Given the description of an element on the screen output the (x, y) to click on. 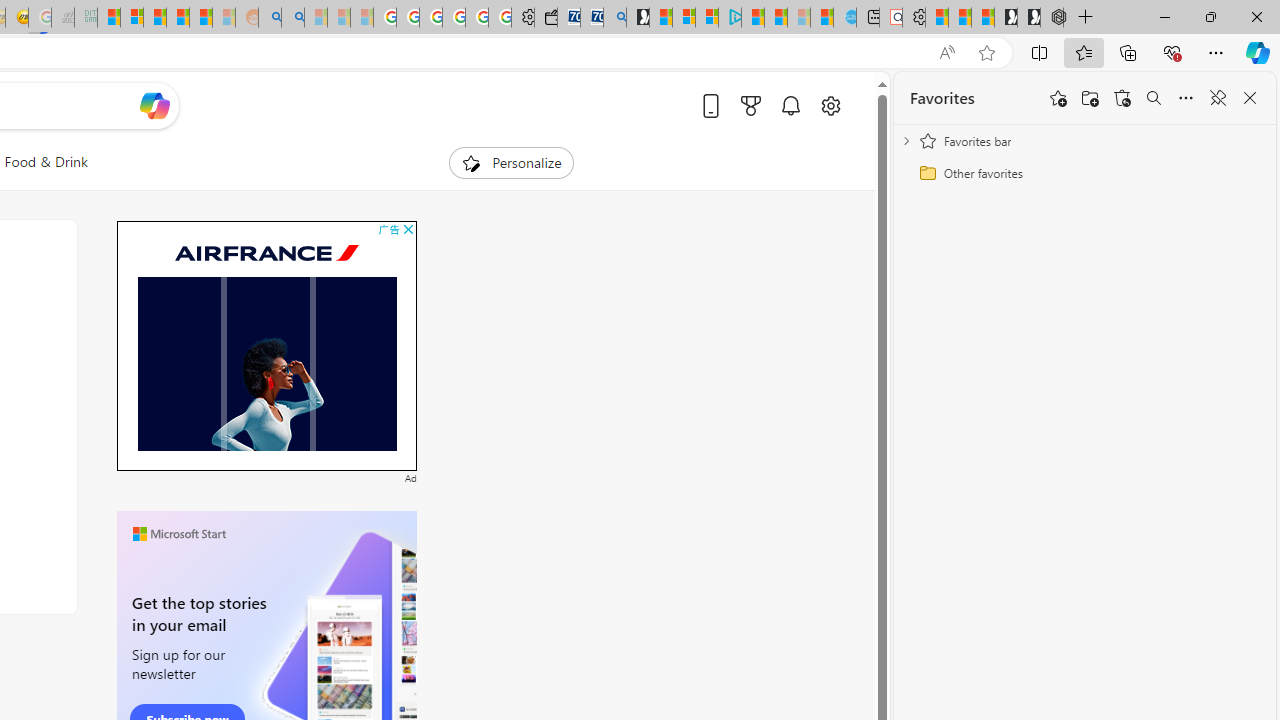
Bing Real Estate - Home sales and rental listings (614, 17)
Wallet (545, 17)
